Given the description of an element on the screen output the (x, y) to click on. 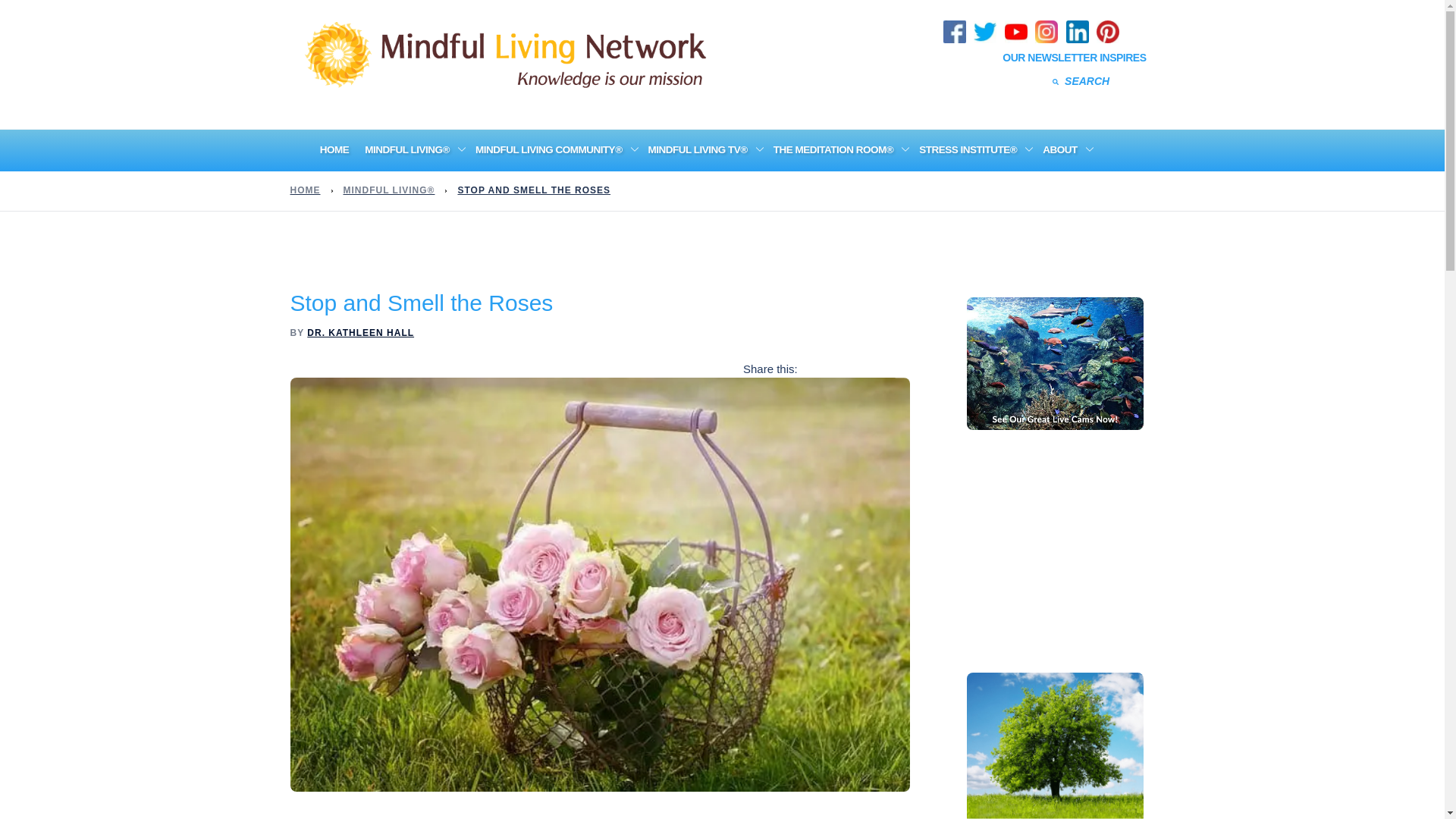
OUR NEWSLETTER INSPIRES (1075, 56)
SEARCH (1008, 79)
HOME (334, 149)
Instagram (1047, 27)
Linkedin (1077, 27)
Youtube (1016, 27)
Advertisement (1079, 547)
Twitter (986, 27)
Facebook (955, 27)
Mindful Living Network (509, 51)
